Given the description of an element on the screen output the (x, y) to click on. 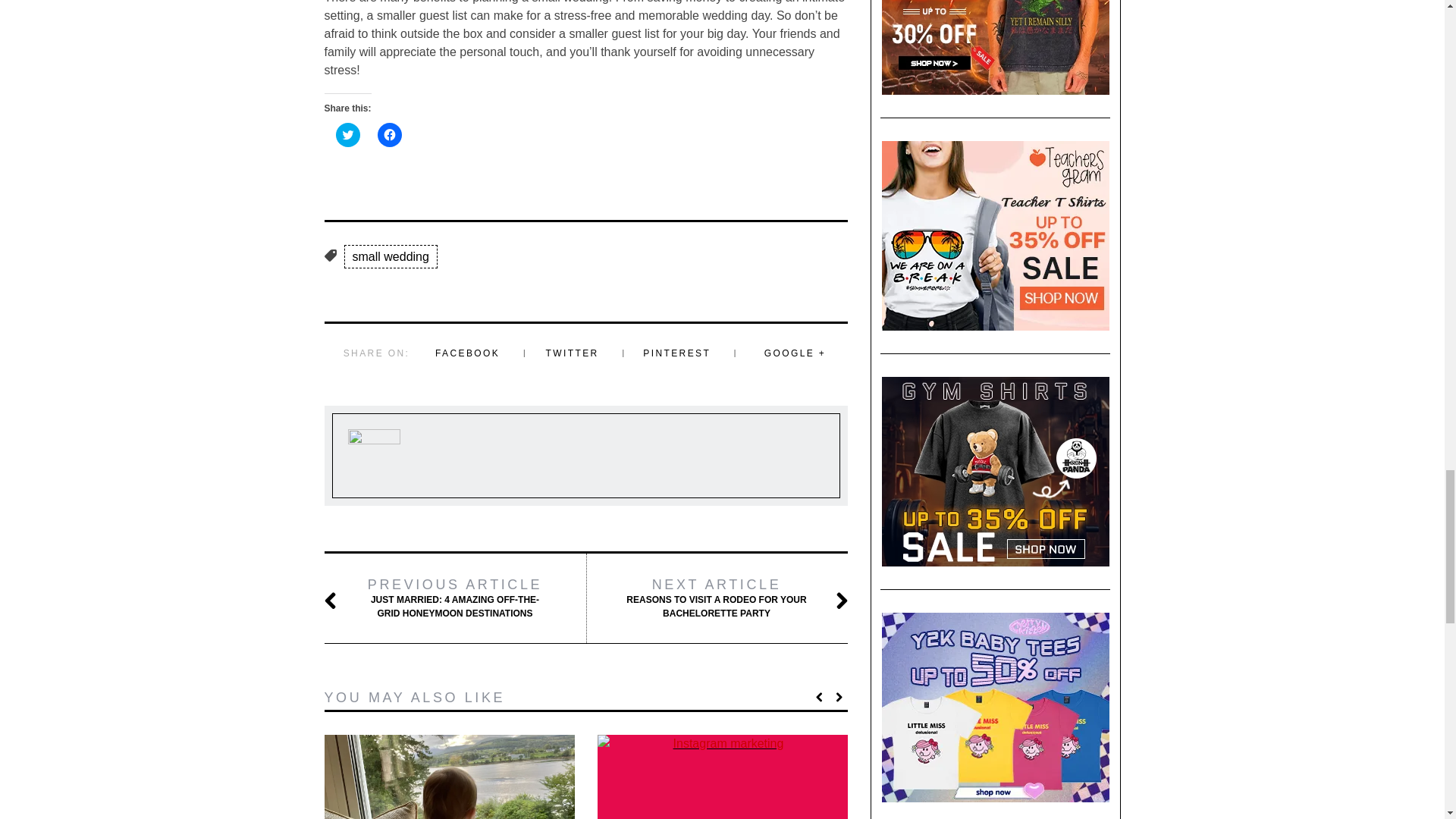
gym shirts (994, 471)
Click to share on Facebook (389, 134)
teacher shirt (994, 235)
Japanese t shirts (994, 47)
baby tees (994, 707)
Click to share on Twitter (346, 134)
